Given the description of an element on the screen output the (x, y) to click on. 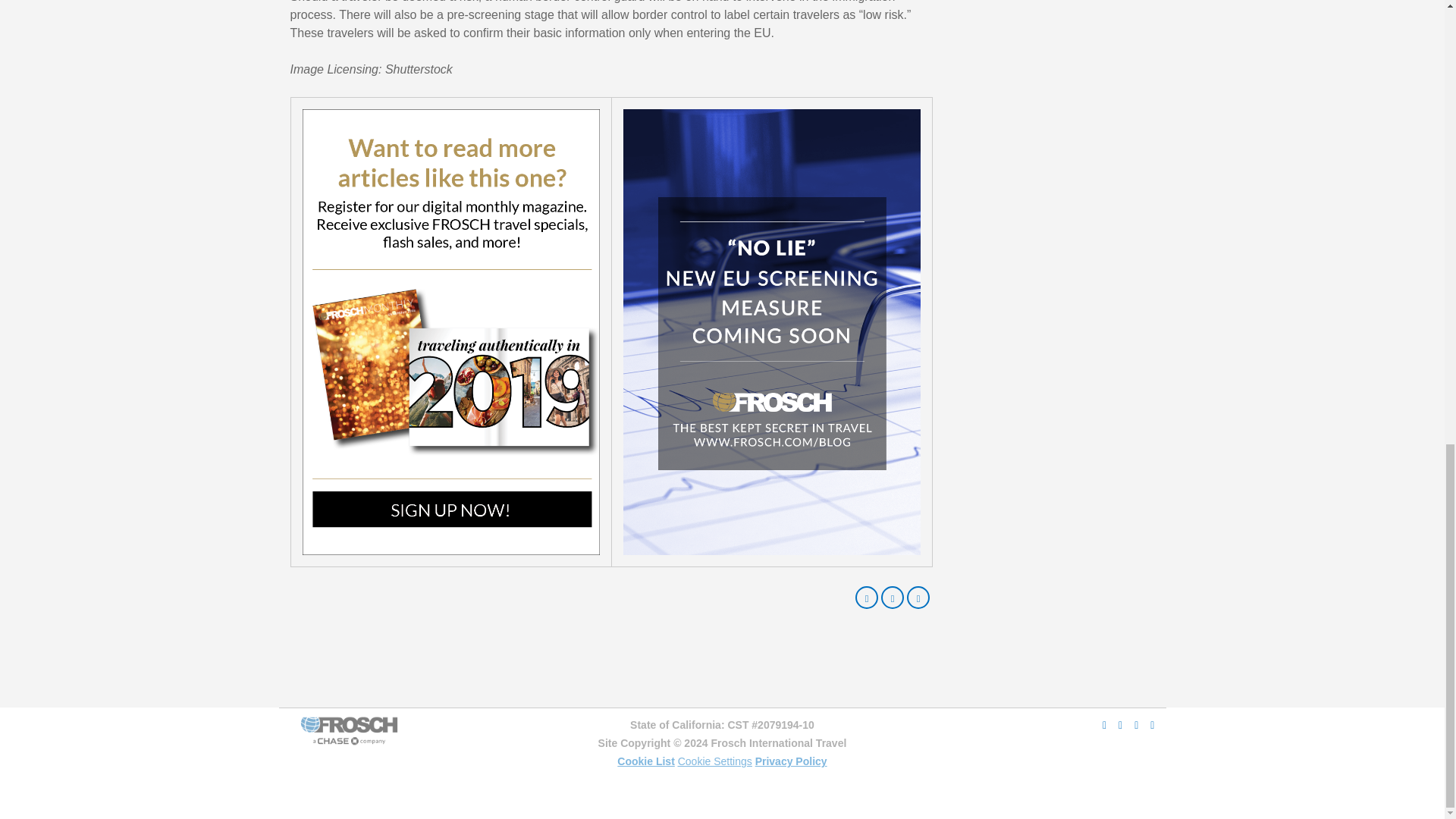
SIGN UP NOW! (449, 330)
